Given the description of an element on the screen output the (x, y) to click on. 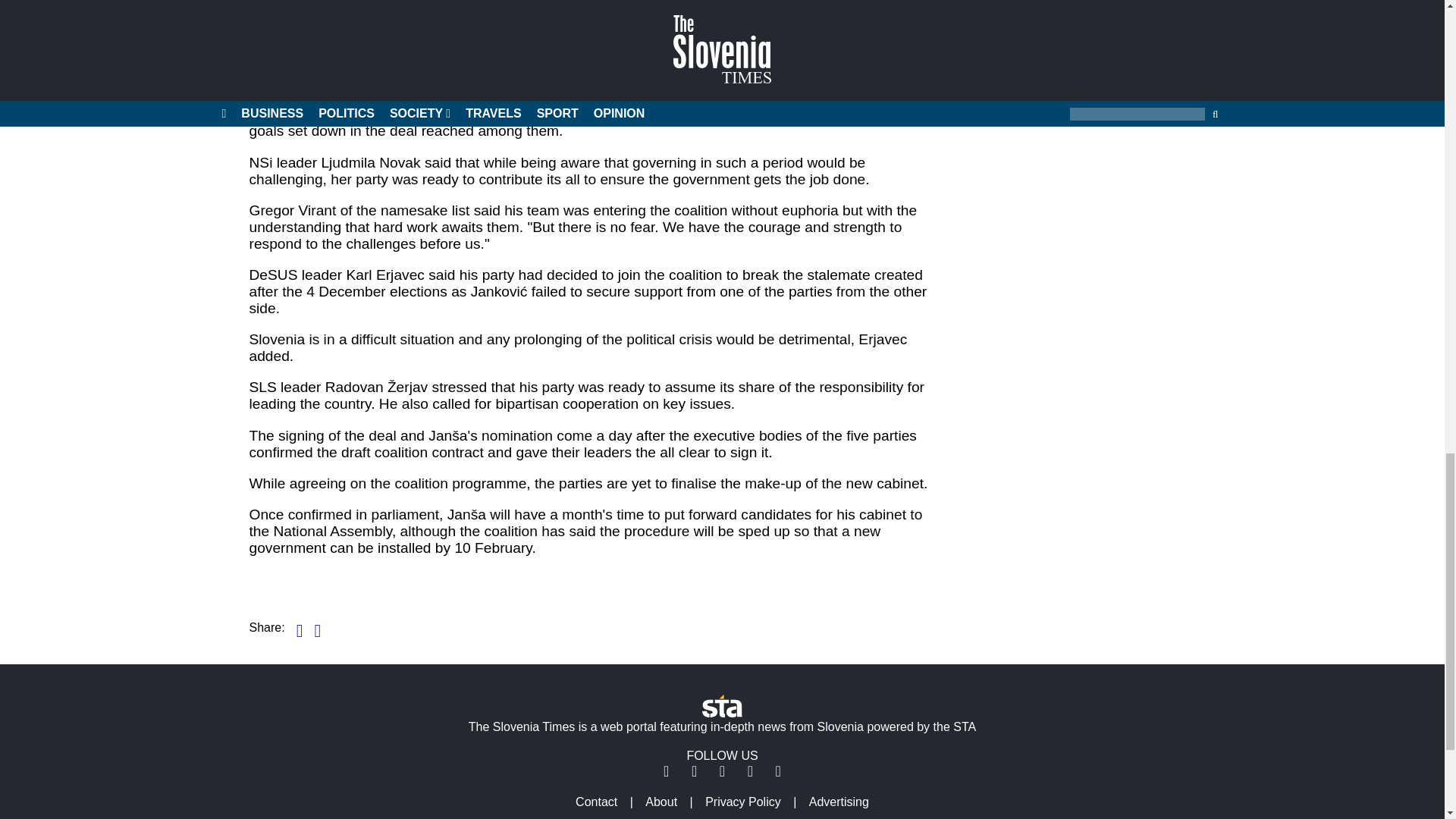
Privacy Policy (742, 801)
Contact (596, 801)
Advertising (838, 801)
About (660, 801)
